Given the description of an element on the screen output the (x, y) to click on. 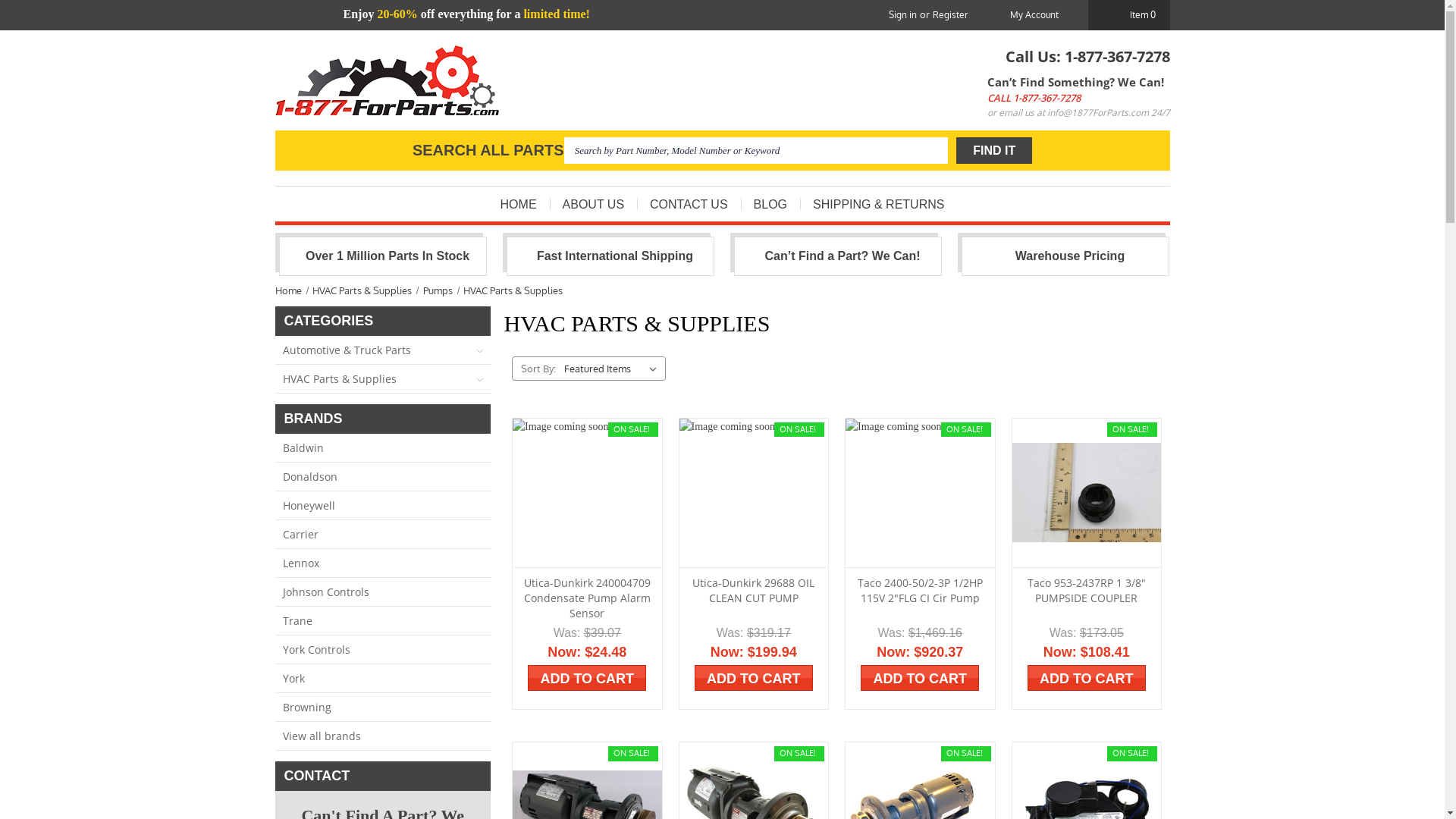
View Cart Element type: hover (1112, 15)
ABOUT US Element type: text (593, 203)
View all brands Element type: text (382, 735)
ADD TO CART Element type: text (586, 677)
Sign in Element type: text (901, 15)
Taco 953-2437RP 1 3/8" PUMPSIDE COUPLER Element type: text (1086, 590)
Utica-Dunkirk 240004709 Condensate Pump Alarm Sensor Element type: text (587, 598)
Baldwin Element type: text (382, 447)
Taco 2400-50/2-3P 1/2HP 115V 2"FLG CI Cir Pump Element type: text (920, 590)
BLOG Element type: text (770, 203)
Pumps Element type: text (437, 289)
Automotive & Truck Parts Element type: text (382, 349)
Honeywell Element type: text (382, 505)
View Cart Element type: hover (957, 94)
1-877-367-7278 Element type: text (1046, 97)
Carrier Element type: text (382, 534)
Utica-Dunkirk 29688 OIL CLEAN CUT PUMP Element type: text (754, 590)
Donaldson Element type: text (382, 476)
ADD TO CART Element type: text (753, 677)
HVAC Parts & Supplies Element type: text (512, 289)
1877ForParts.com Element type: hover (386, 80)
Register Element type: text (949, 15)
York Controls Element type: text (382, 649)
Taco 953-2437RP 1 3/8" PUMPSIDE COUPLER Element type: hover (1086, 492)
My Account Element type: text (1033, 15)
CONTACT US Element type: text (688, 203)
HVAC Parts & Supplies Element type: text (382, 378)
HVAC Parts & Supplies Element type: text (361, 289)
ADD TO CART Element type: text (919, 677)
Home Element type: text (287, 289)
ADD TO CART Element type: text (1086, 677)
Lennox Element type: text (382, 563)
Find It Element type: text (994, 150)
Item 0 Element type: text (1128, 15)
Johnson Controls Element type: text (382, 591)
York Element type: text (382, 678)
1-877-367-7278 Element type: text (1117, 56)
Trane Element type: text (382, 620)
HOME Element type: text (518, 203)
Browning Element type: text (382, 707)
SHIPPING & RETURNS Element type: text (878, 203)
